Given the description of an element on the screen output the (x, y) to click on. 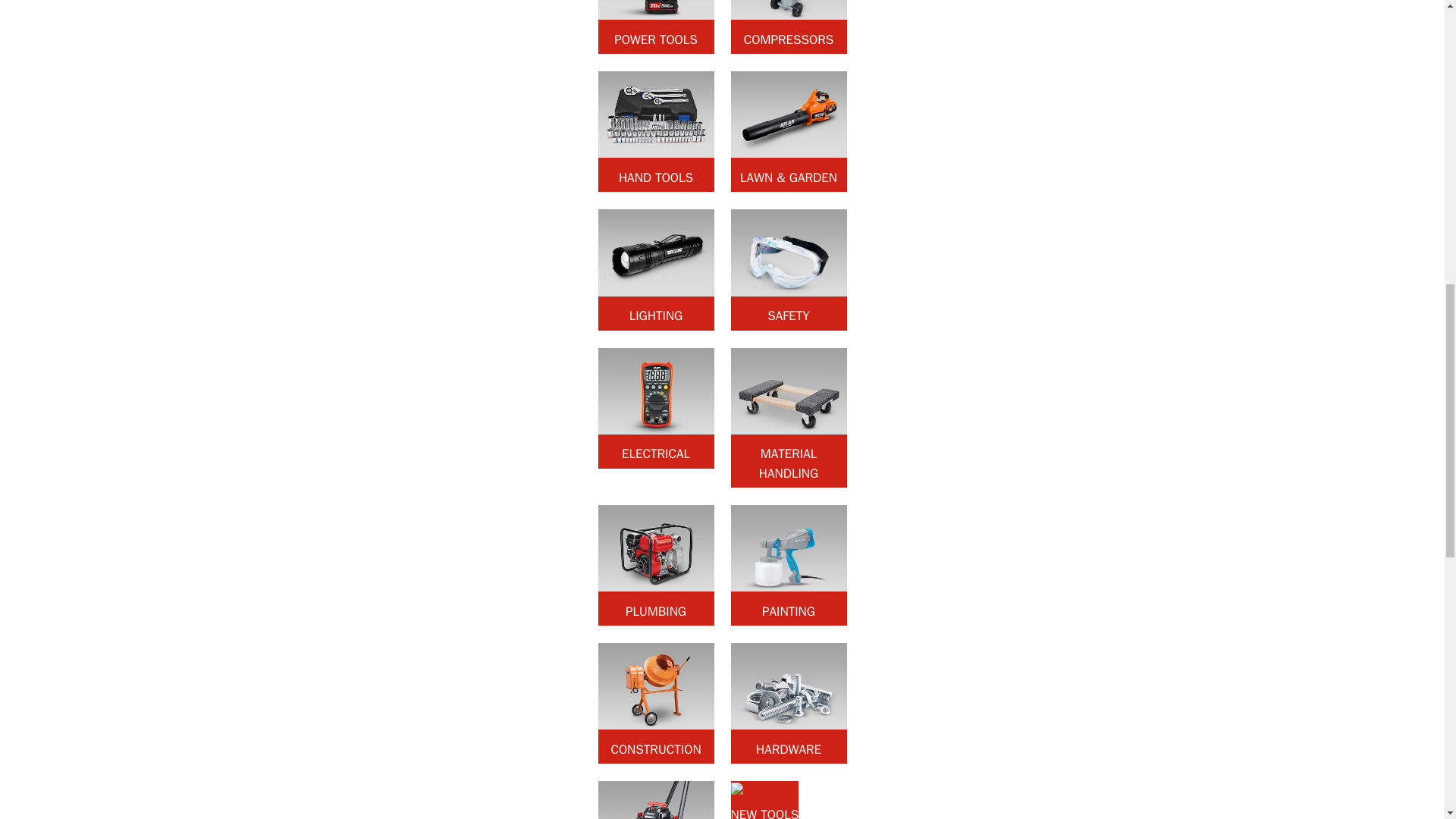
COMPRESSORS (788, 27)
HARDWARE (788, 702)
POWER TOOLS (654, 27)
LIGHTING (654, 269)
PAINTING (788, 565)
SAFETY (788, 269)
ELECTRICAL (654, 408)
PLUMBING (654, 565)
HAND TOOLS (654, 131)
CONSTRUCTION (654, 702)
NEW TOOLS (764, 800)
